Given the description of an element on the screen output the (x, y) to click on. 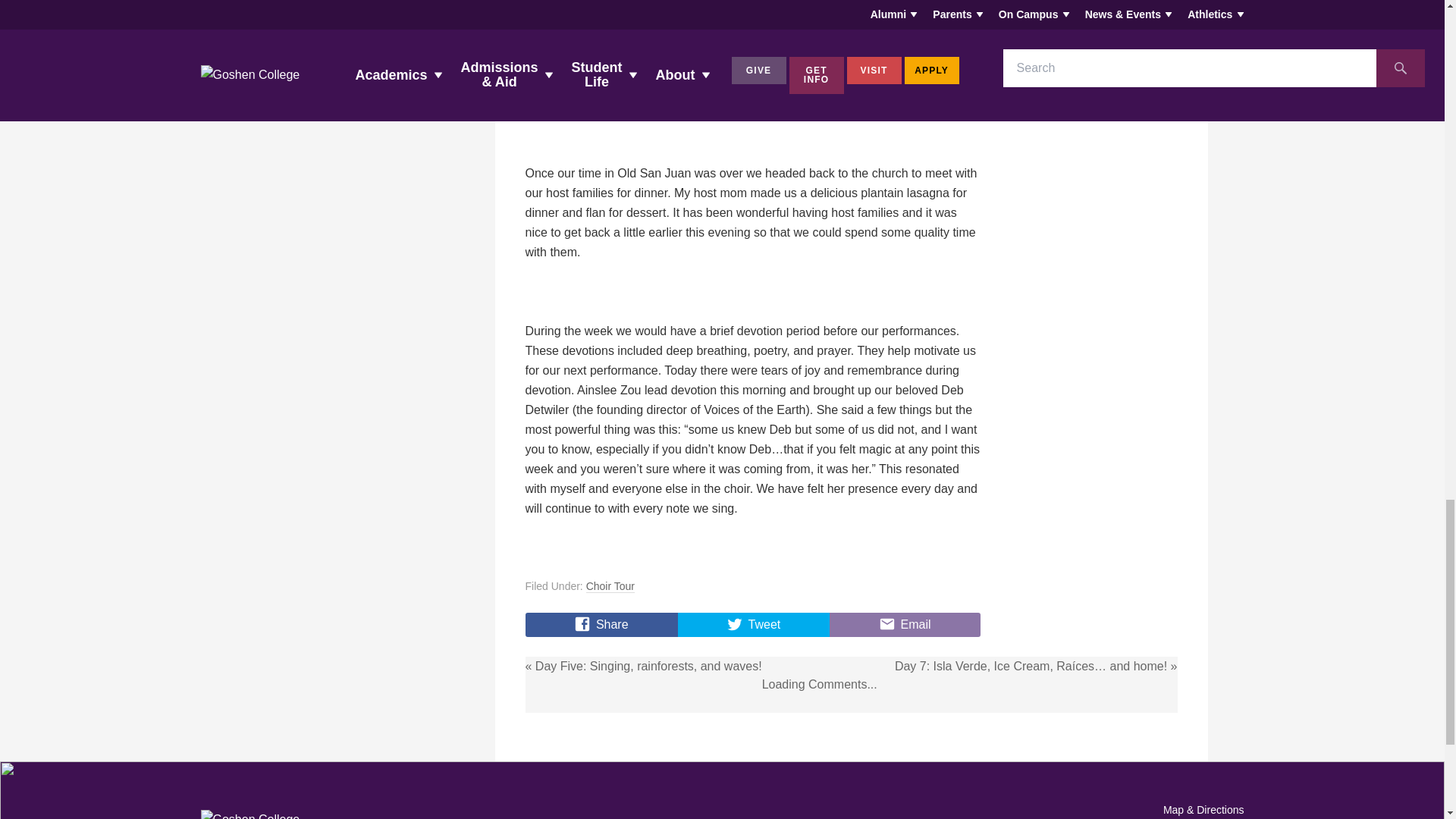
Share on Facebook (600, 624)
Share on Twitter (753, 624)
Share via Email (904, 624)
